Given the description of an element on the screen output the (x, y) to click on. 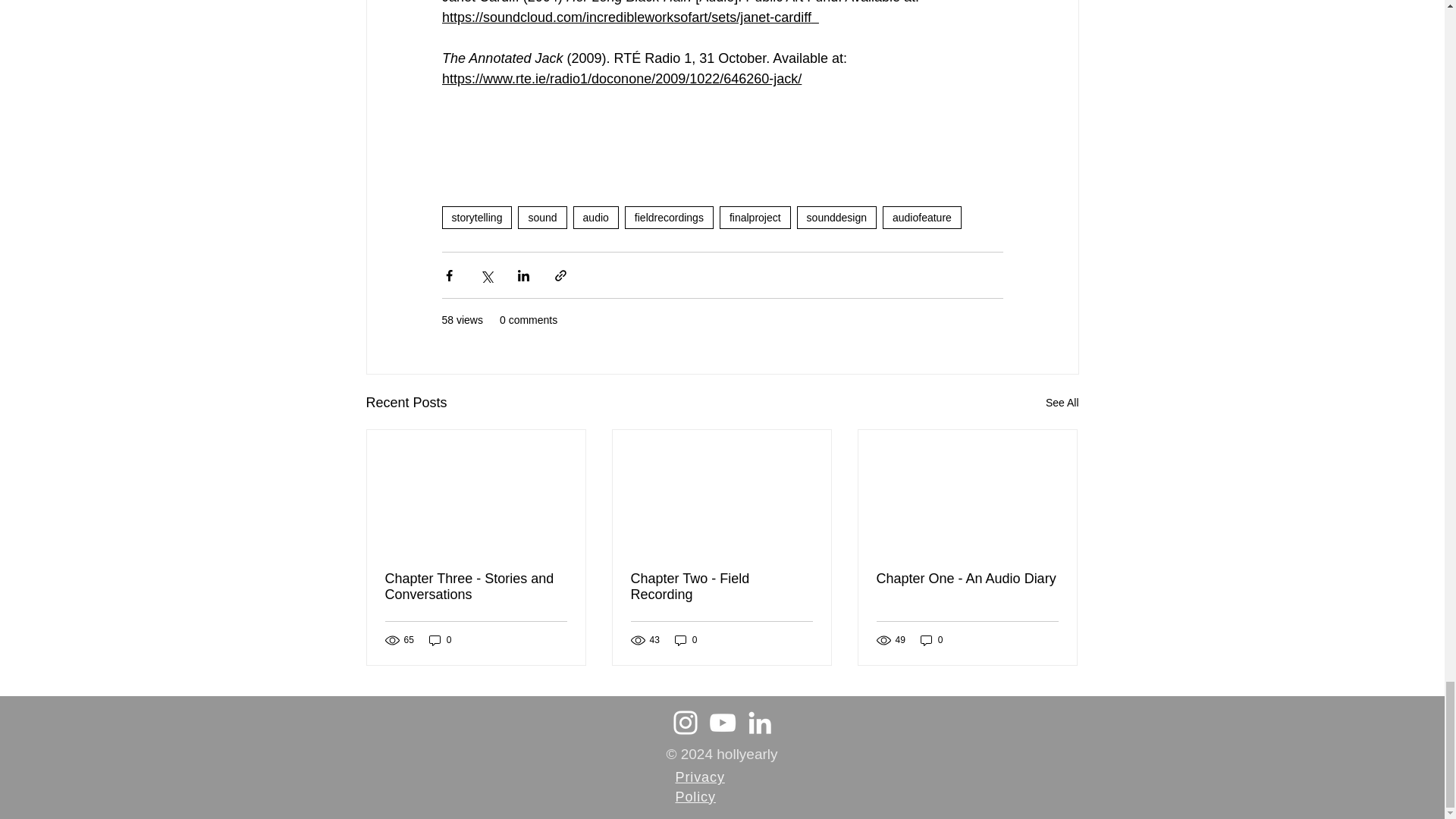
audio (595, 217)
sound (542, 217)
finalproject (754, 217)
audiofeature (921, 217)
storytelling (476, 217)
sounddesign (836, 217)
fieldrecordings (668, 217)
